Given the description of an element on the screen output the (x, y) to click on. 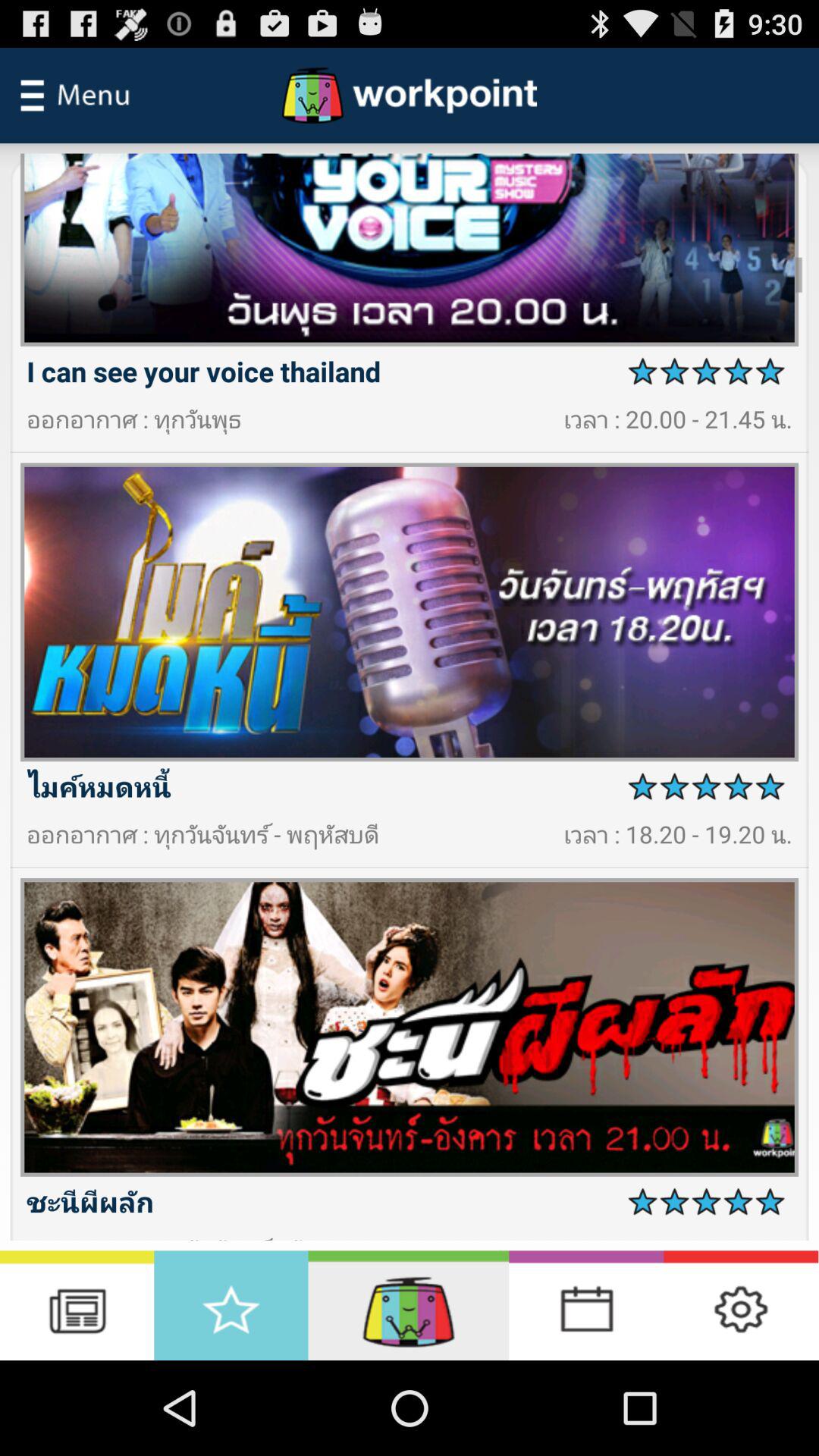
click for menu (75, 95)
